Given the description of an element on the screen output the (x, y) to click on. 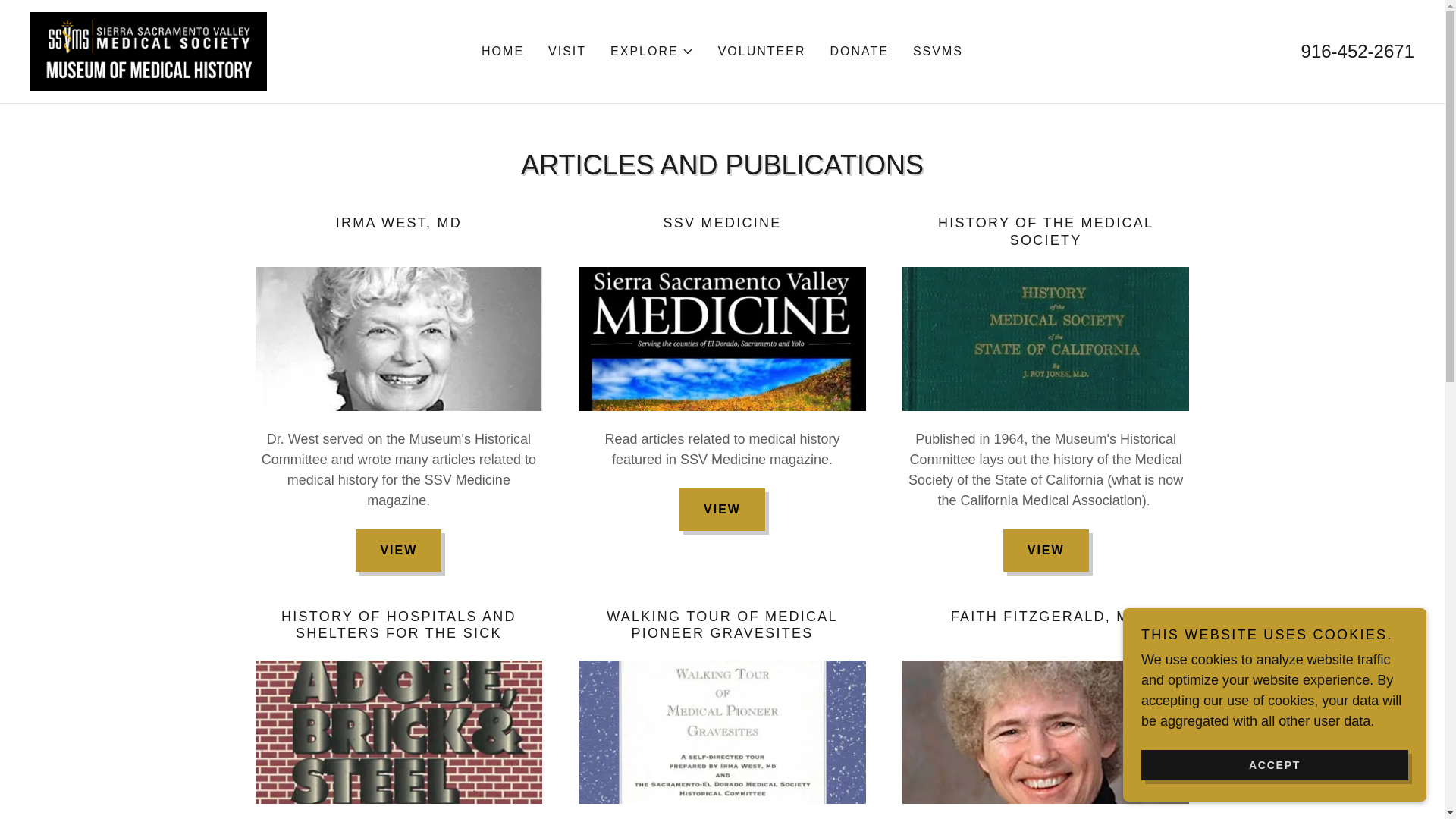
SSVMS (938, 51)
916-452-2671 (1357, 50)
VISIT (567, 51)
VOLUNTEER (761, 51)
EXPLORE (652, 51)
HOME (502, 51)
Museum of Medical History (148, 50)
DONATE (858, 51)
